Given the description of an element on the screen output the (x, y) to click on. 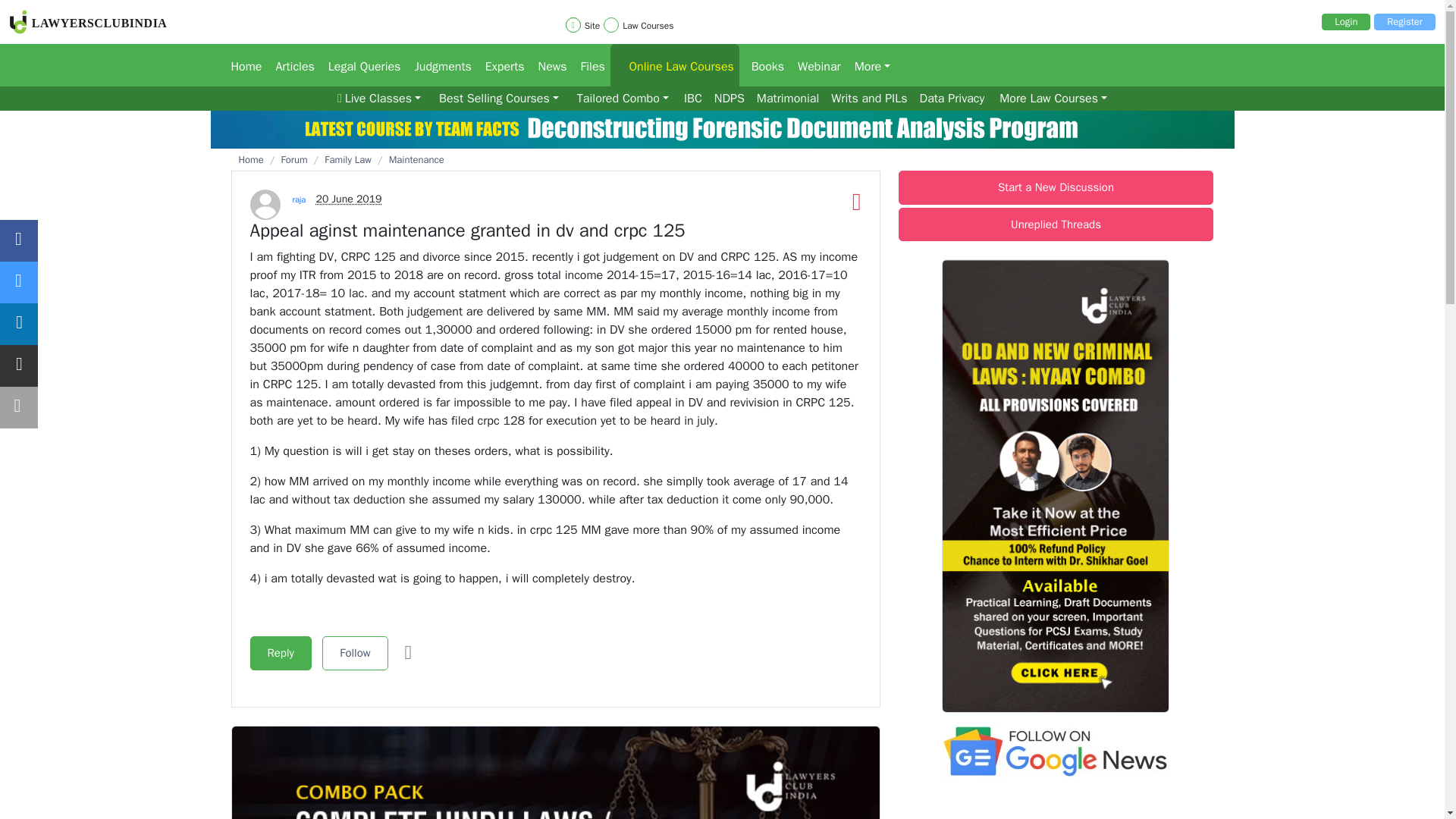
Books (762, 65)
Books (762, 65)
Files  (589, 65)
News (547, 65)
Legal Queries (359, 65)
Best Selling Courses (498, 98)
Articles (289, 65)
Experts (499, 65)
Login (1346, 21)
Judgments (436, 65)
Register (1404, 21)
News (547, 65)
Webinar (814, 65)
Judgments (436, 65)
More (867, 65)
